Given the description of an element on the screen output the (x, y) to click on. 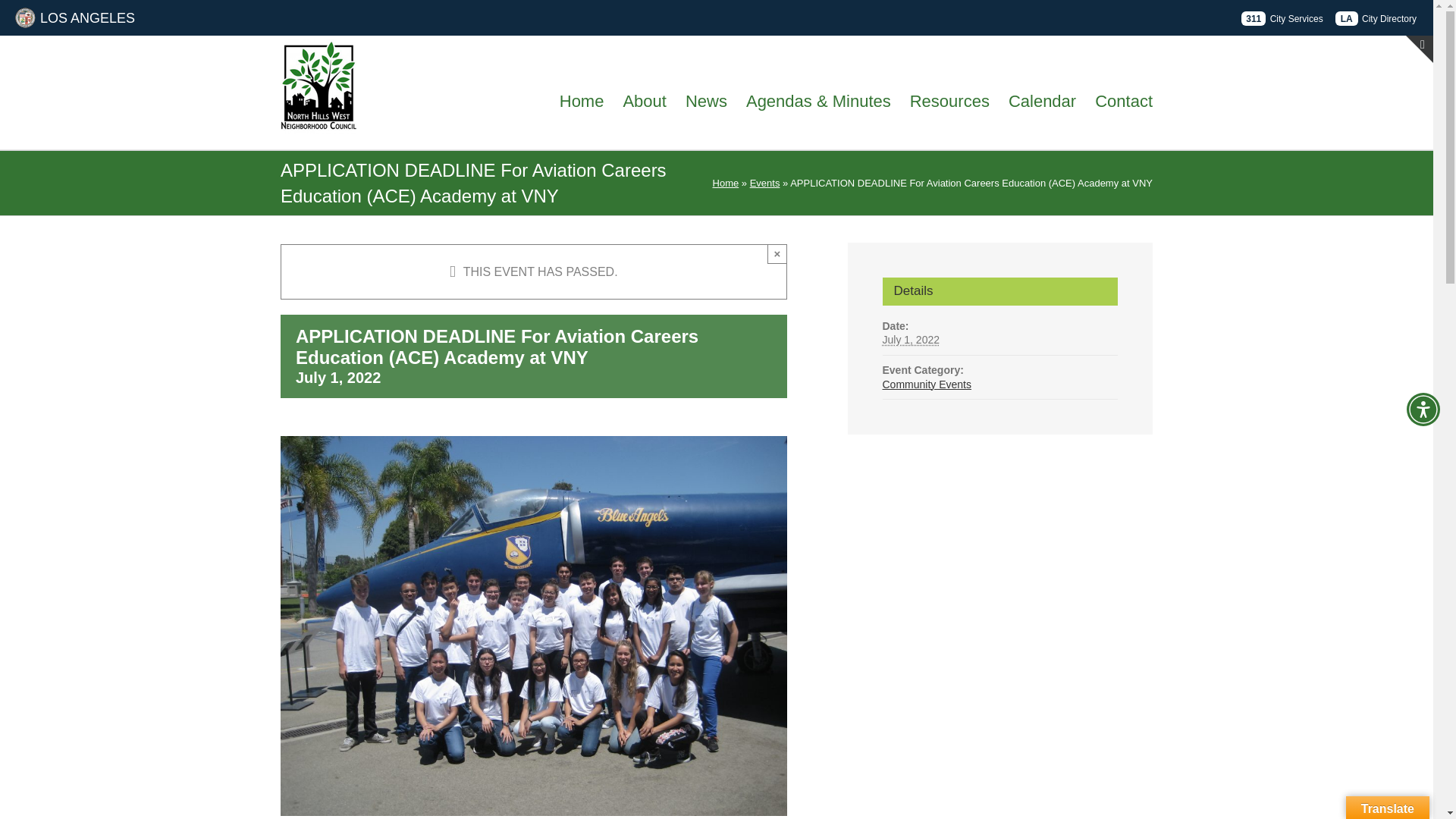
LA City Directory (1375, 18)
2022-07-01 (911, 339)
Resources (950, 99)
Contact (1123, 99)
Calendar (1042, 99)
311 City Services (1280, 18)
